Given the description of an element on the screen output the (x, y) to click on. 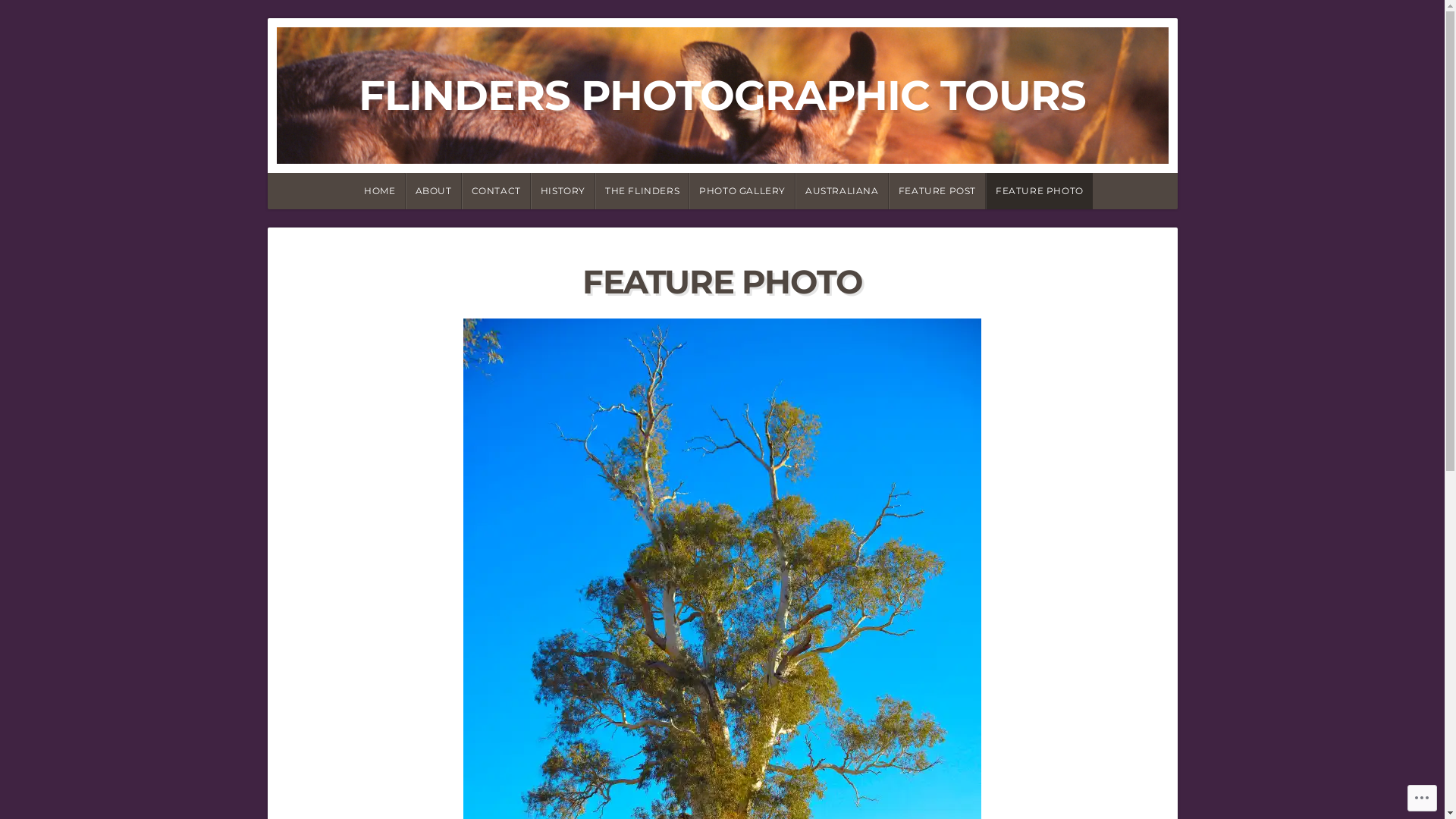
THE FLINDERS Element type: text (642, 190)
FEATURE PHOTO Element type: text (1038, 190)
ABOUT Element type: text (433, 190)
HOME Element type: text (377, 190)
AUSTRALIANA Element type: text (841, 190)
FEATURE POST Element type: text (936, 190)
PHOTO GALLERY Element type: text (742, 190)
FLINDERS PHOTOGRAPHIC TOURS Element type: text (721, 94)
CONTACT Element type: text (495, 190)
HISTORY Element type: text (562, 190)
